Given the description of an element on the screen output the (x, y) to click on. 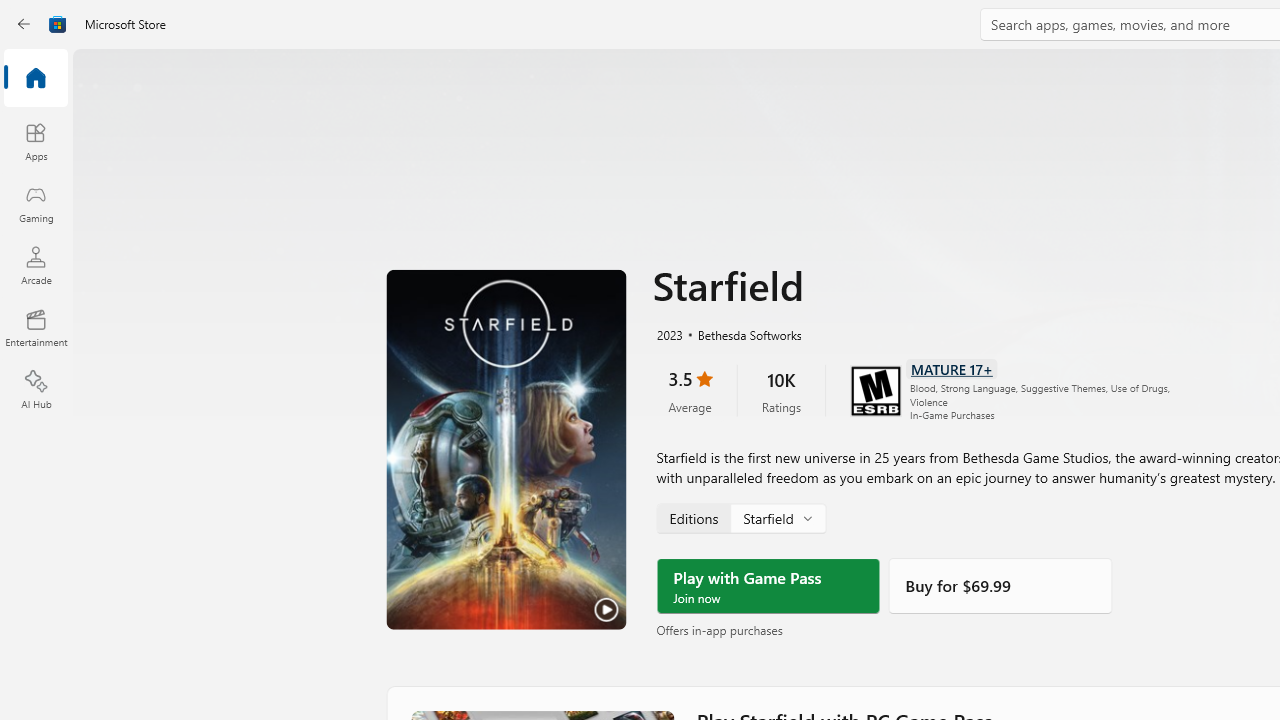
Starfield, Edition selector (740, 517)
